Given the description of an element on the screen output the (x, y) to click on. 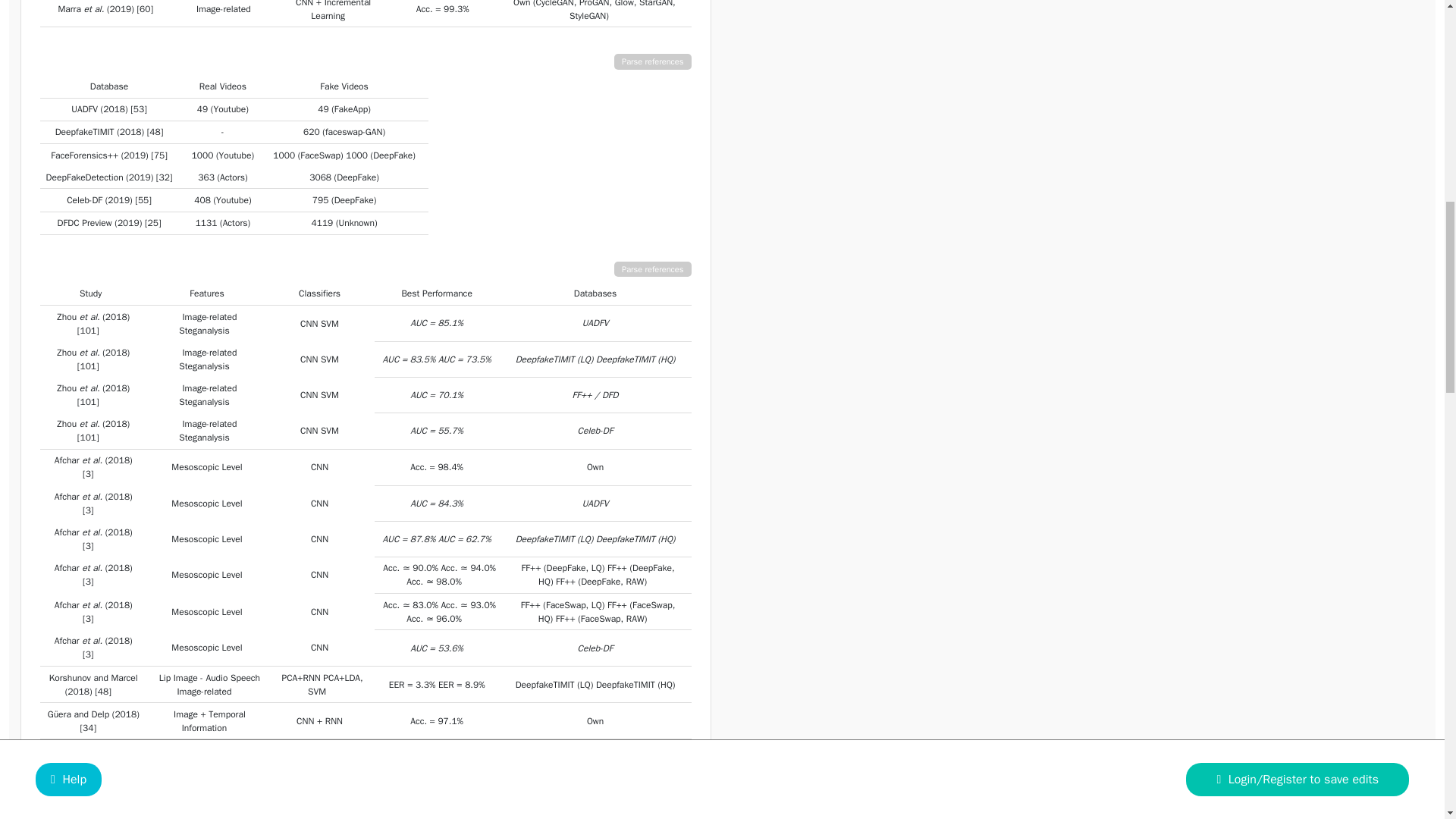
bib-bib63 (88, 330)
Parse references (652, 61)
bib-bib63 (88, 366)
